Given the description of an element on the screen output the (x, y) to click on. 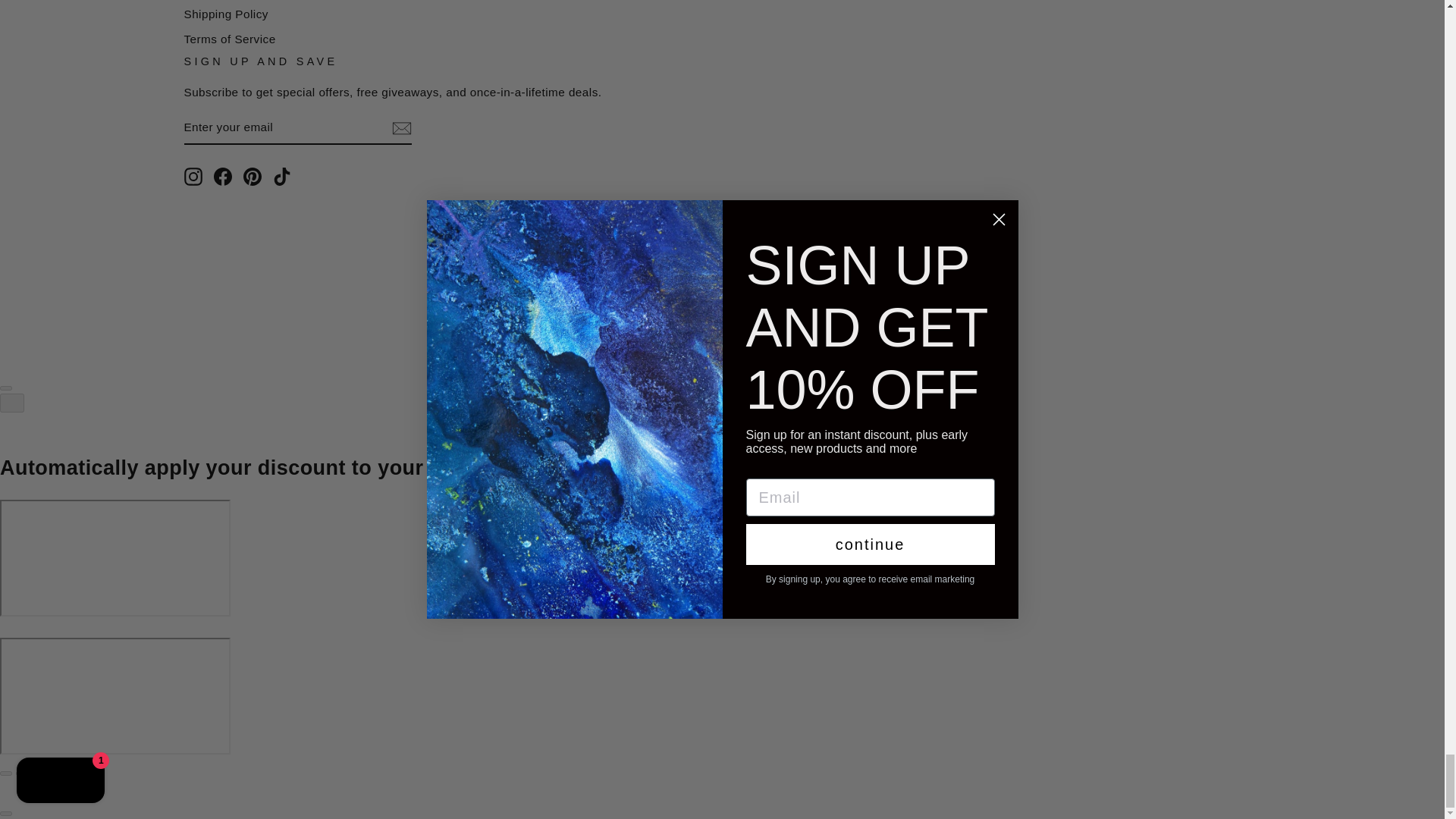
qivii on Facebook (222, 176)
qivii on Instagram (192, 176)
qivii on TikTok (282, 176)
qivii on Pinterest (251, 176)
